Given the description of an element on the screen output the (x, y) to click on. 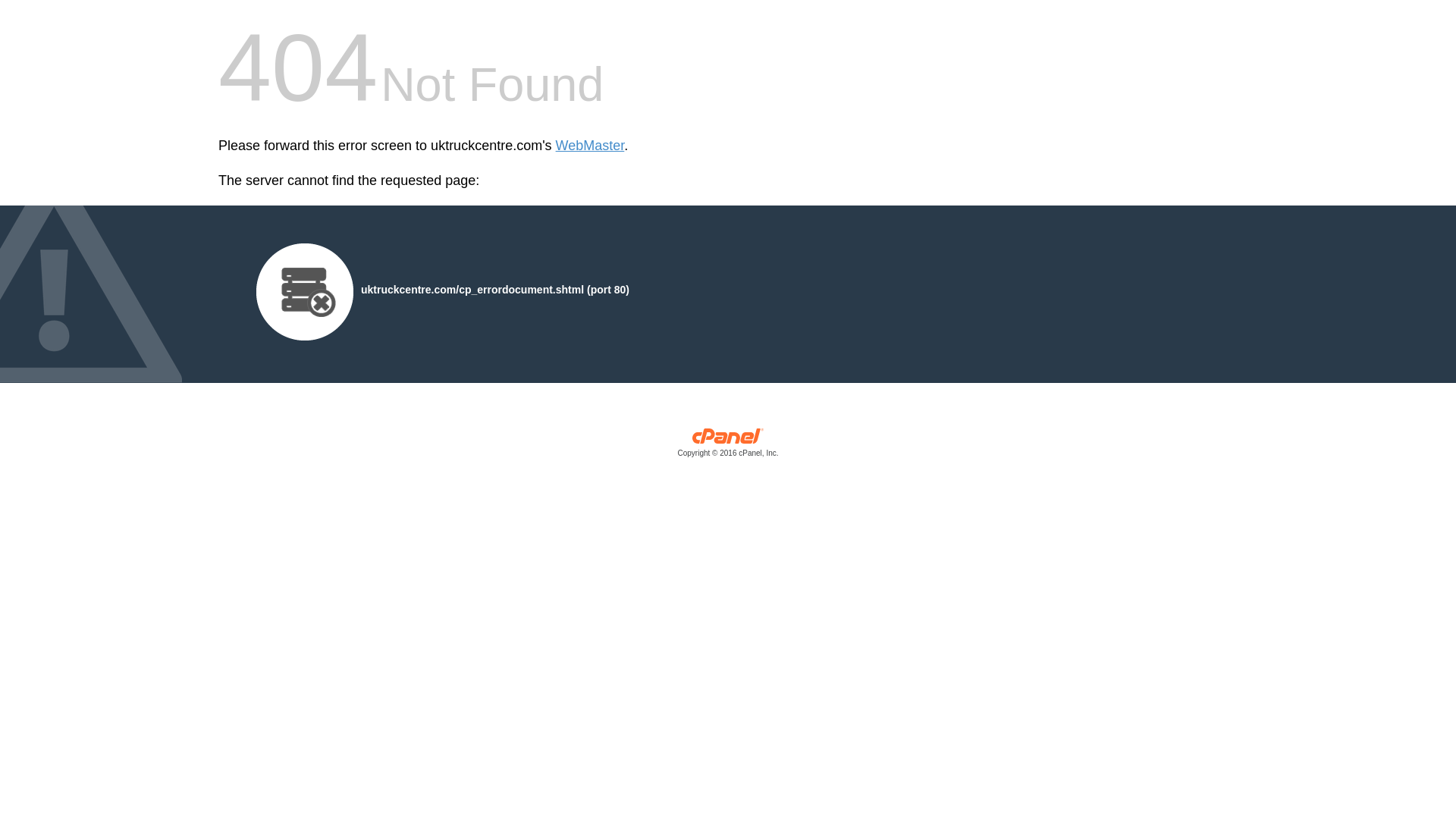
cPanel, Inc. (727, 446)
WebMaster (590, 145)
